Given the description of an element on the screen output the (x, y) to click on. 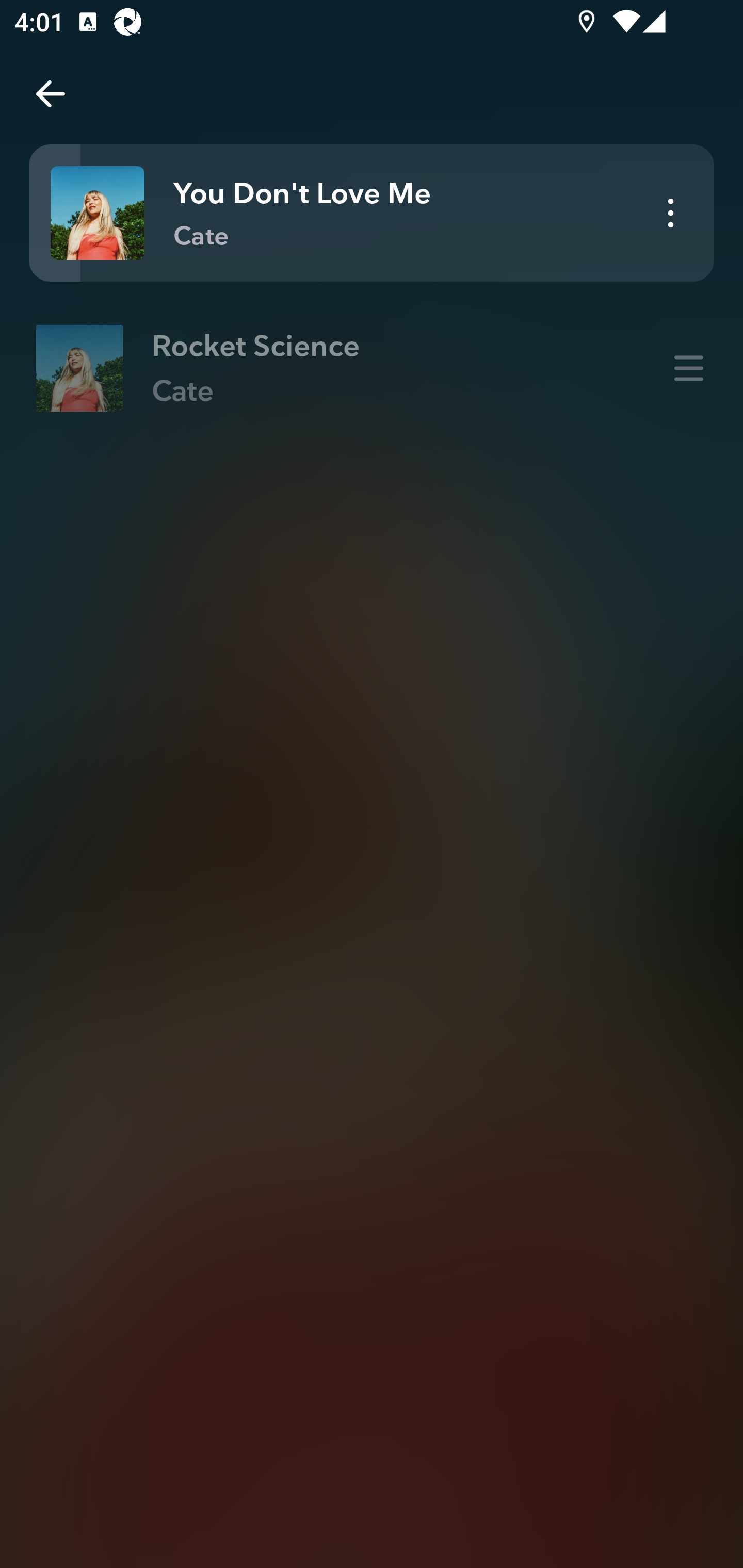
You Don't Love Me Cate (371, 213)
